Given the description of an element on the screen output the (x, y) to click on. 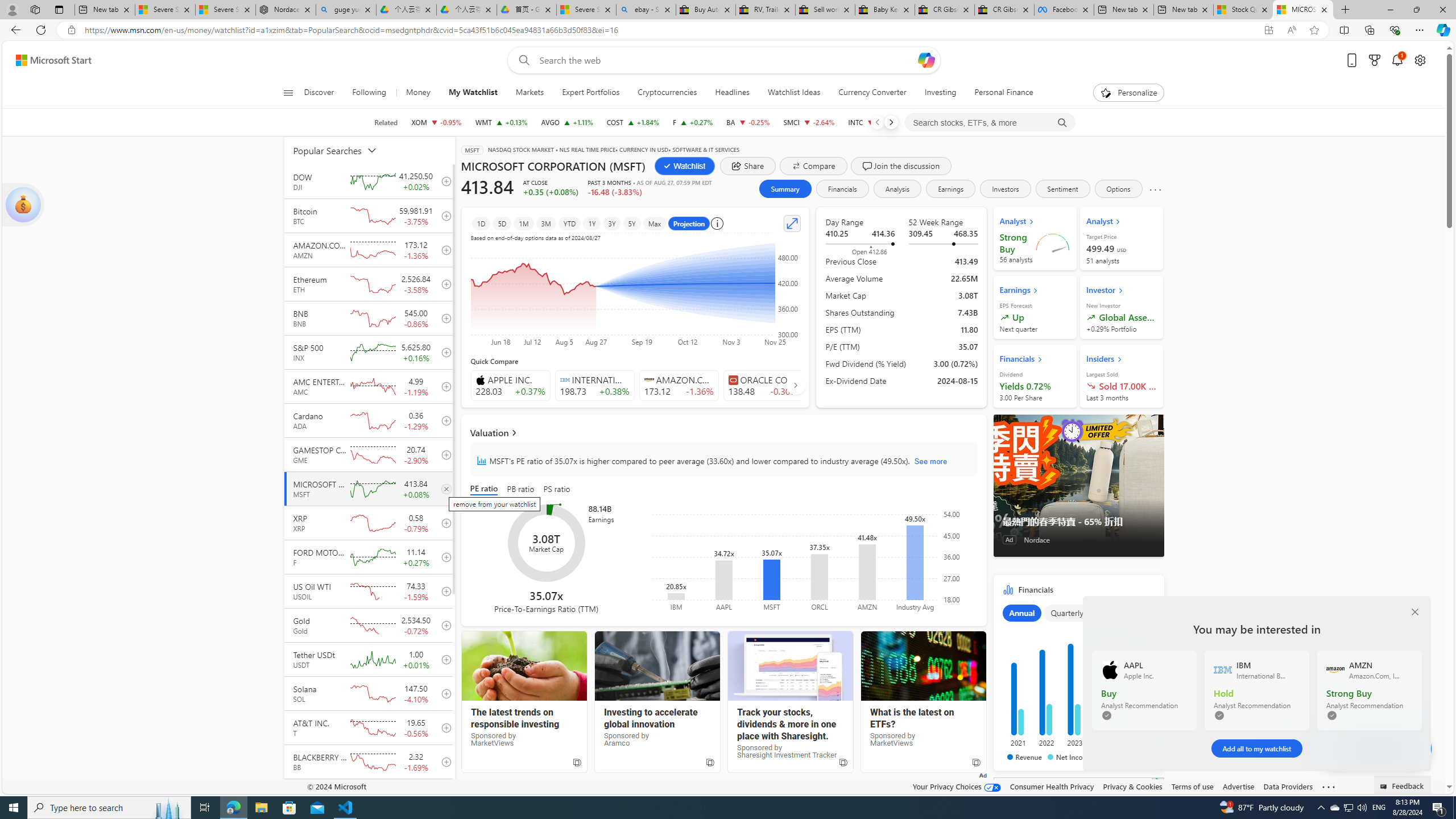
XOM EXXON MOBIL CORPORATION decrease 117.68 -1.13 -0.95% (436, 122)
5D (502, 223)
Terms of use (1192, 786)
MarketViews (922, 666)
F FORD MOTOR COMPANY increase 11.14 +0.03 +0.27% (692, 122)
Watchlist Ideas (794, 92)
Financials (1077, 675)
Class: feedback_link_icon-DS-EntryPoint1-1 (1384, 786)
Sharesight Investment Tracker (790, 666)
